Given the description of an element on the screen output the (x, y) to click on. 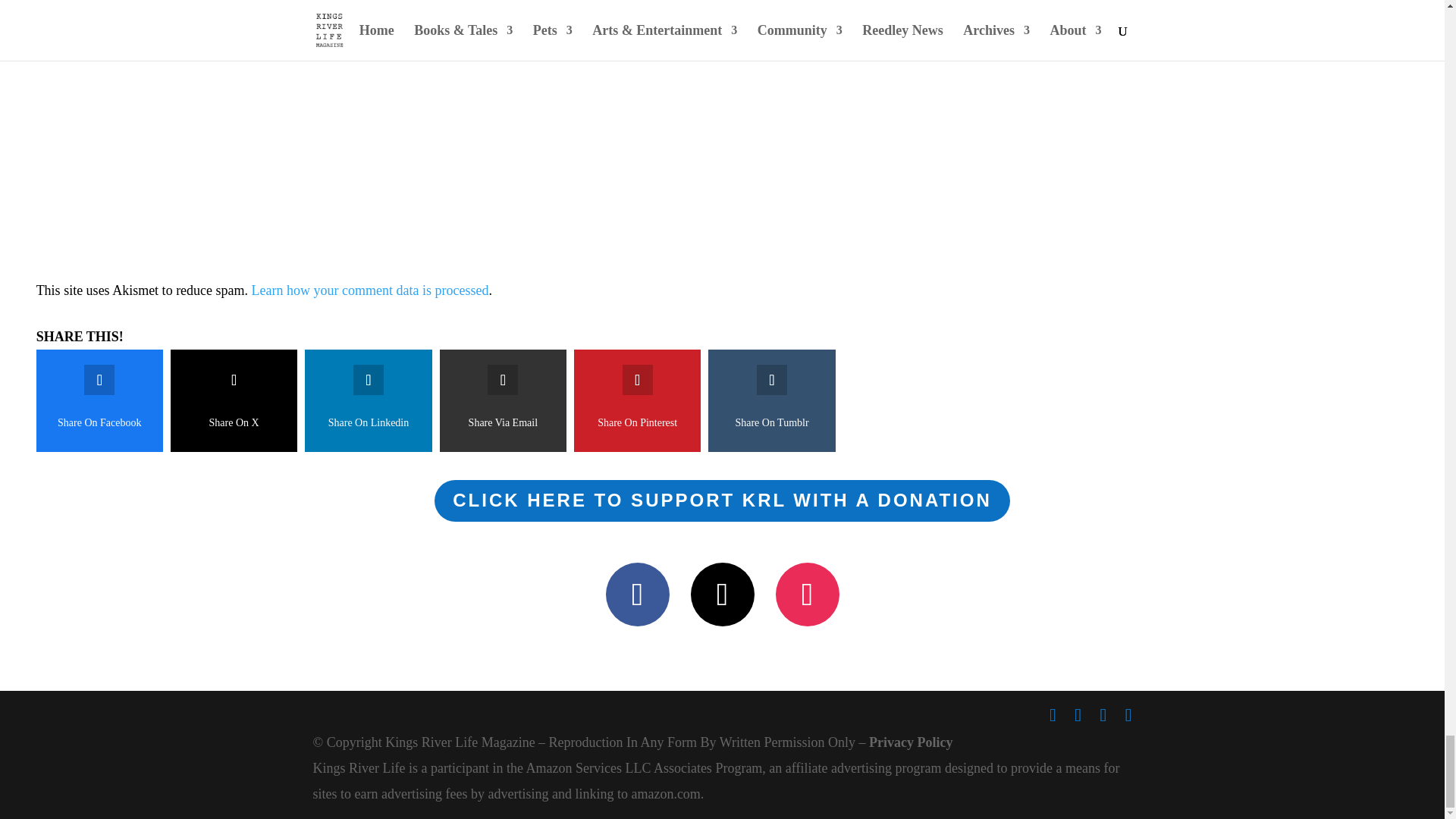
Follow on X (722, 594)
Follow on Facebook (636, 594)
Follow on Instagram (806, 594)
